Given the description of an element on the screen output the (x, y) to click on. 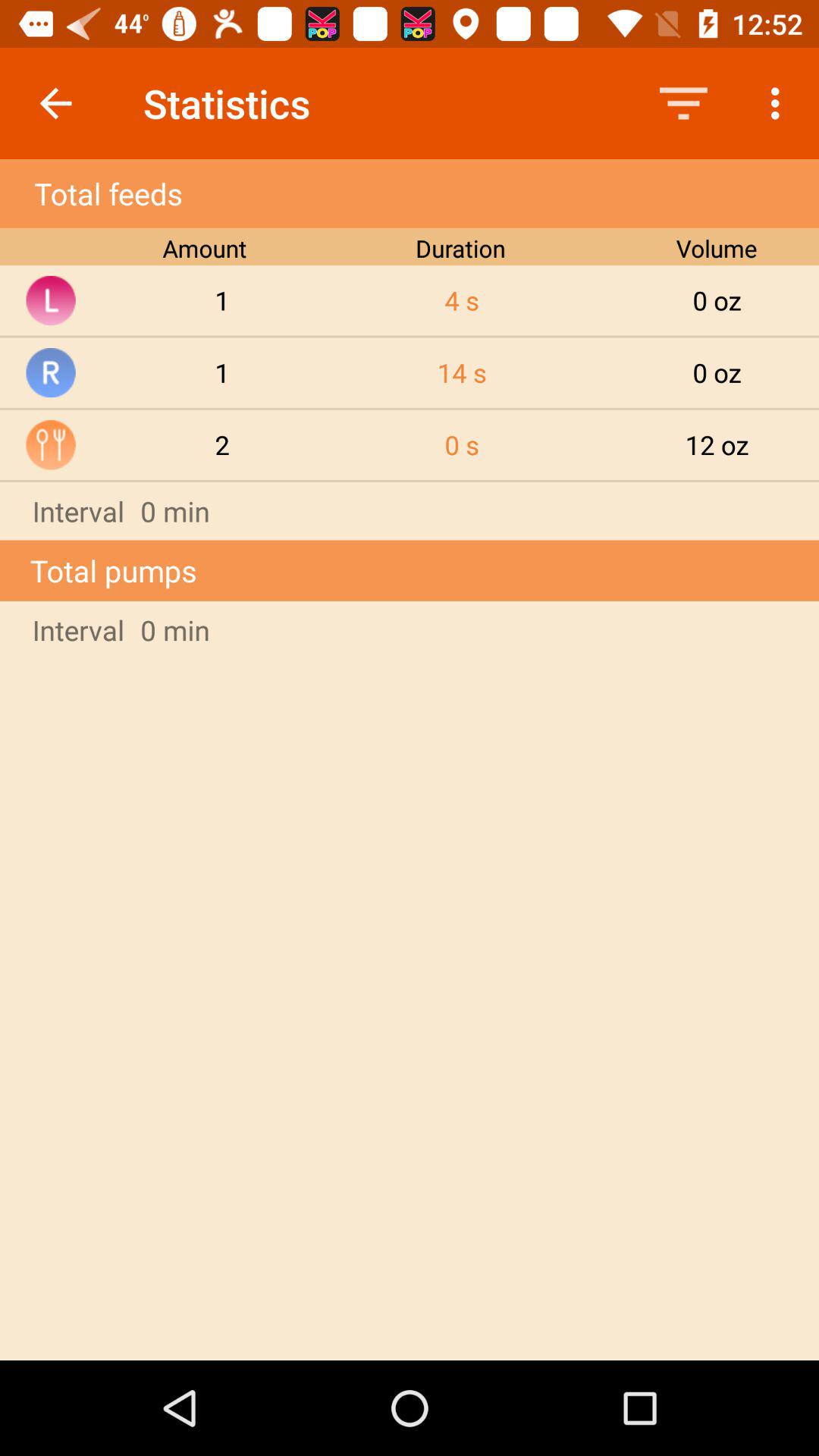
turn on the item to the right of the 1 item (461, 372)
